Given the description of an element on the screen output the (x, y) to click on. 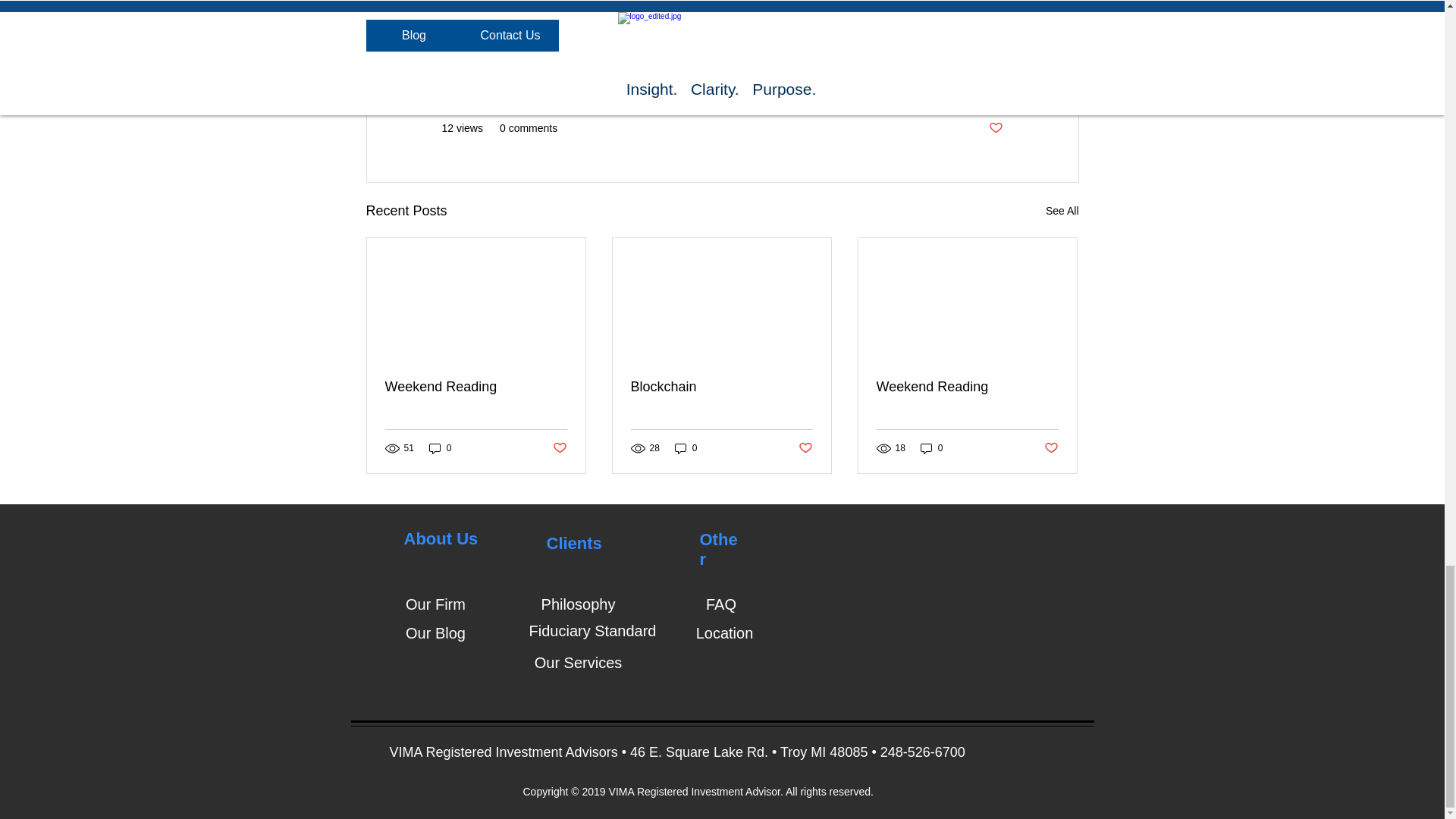
Post not marked as liked (1050, 448)
0 (931, 448)
See All (1061, 210)
Post not marked as liked (804, 448)
0 (685, 448)
Post not marked as liked (995, 128)
Weekend Reading (476, 386)
Blockchain (721, 386)
Weekend Reading (967, 386)
Post not marked as liked (558, 448)
